Given the description of an element on the screen output the (x, y) to click on. 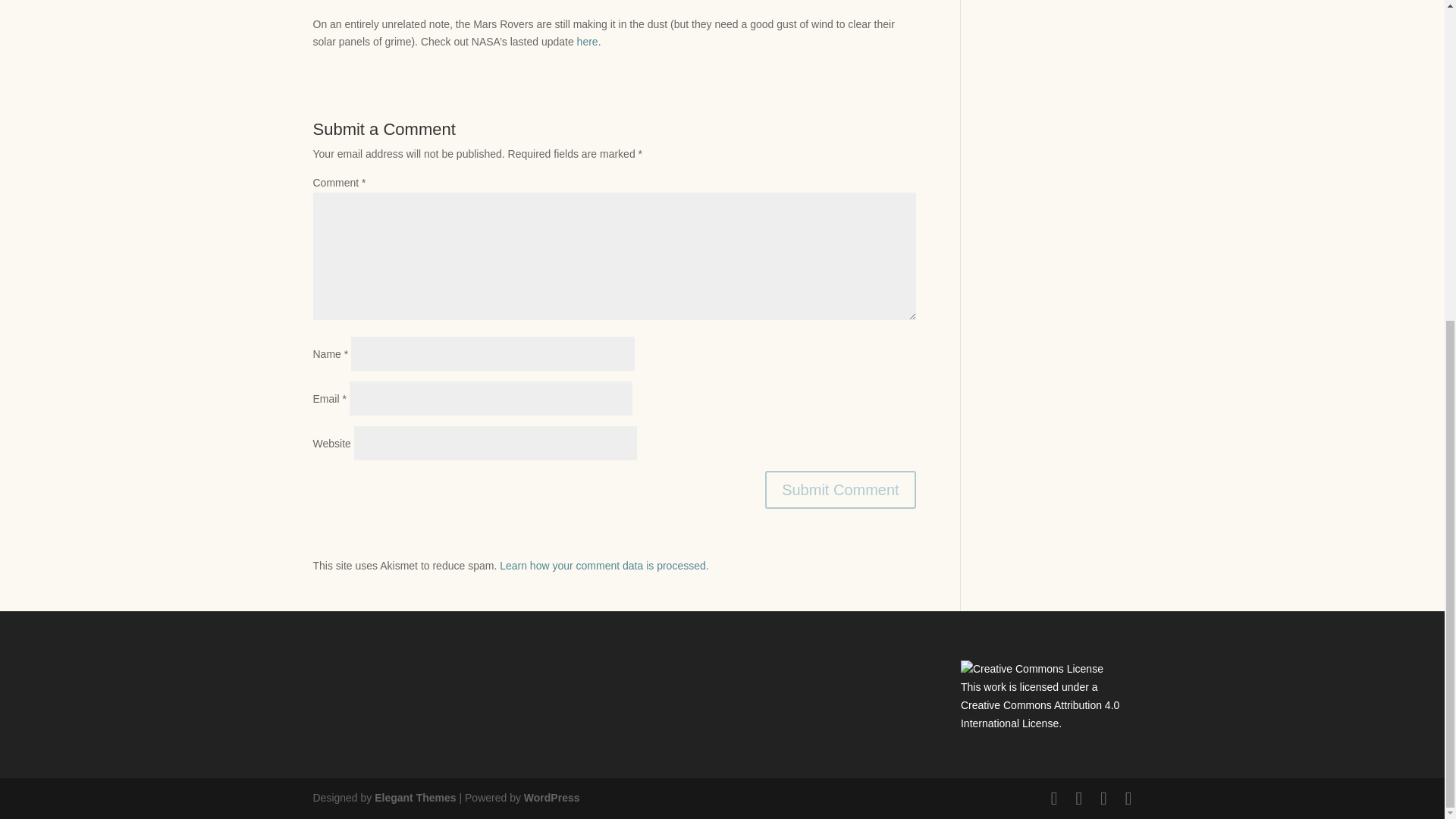
Creative Commons Attribution 4.0 International License (1039, 714)
Submit Comment (840, 489)
Learn how your comment data is processed (602, 565)
Premium WordPress Themes (414, 797)
here (587, 41)
WordPress (551, 797)
Elegant Themes (414, 797)
Submit Comment (840, 489)
